Given the description of an element on the screen output the (x, y) to click on. 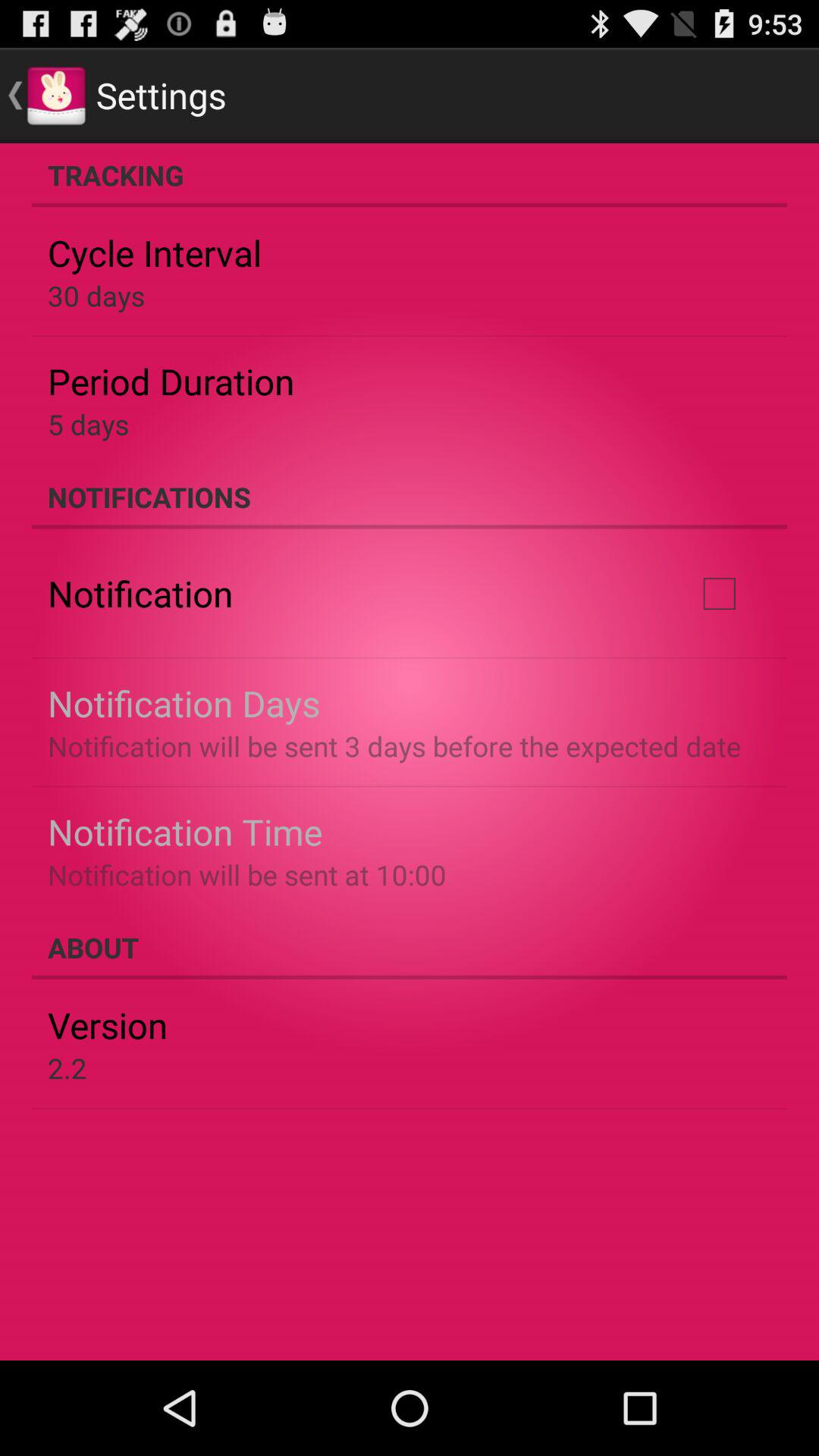
swipe until 2.2 icon (67, 1067)
